Given the description of an element on the screen output the (x, y) to click on. 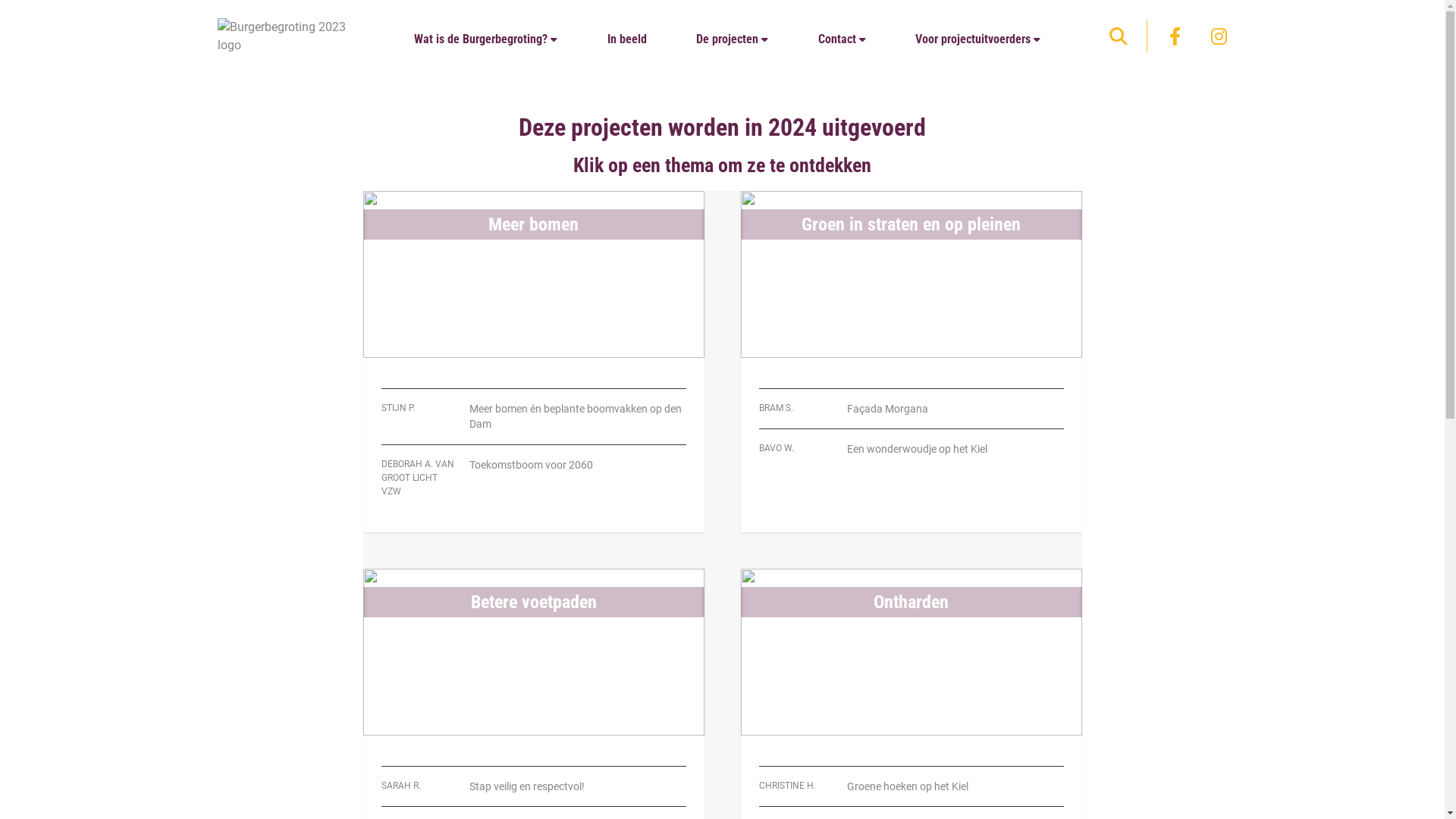
[MISSING STATIC] entries_show_cta_can_share_insta Element type: text (1218, 36)
Klik om de zoekbalk te selecteren Element type: text (1118, 36)
Betere voetpaden
10
1101
0
0 Element type: text (532, 651)
In beeld Element type: text (636, 39)
BAVO W.
Een wonderwoudje op het Kiel Element type: text (910, 442)
home-page Element type: text (290, 36)
Meer bomen
5
1083
0
0 Element type: text (532, 274)
Ontharden
5
1113
0
0 Element type: text (910, 651)
Deel op facebook Element type: text (1174, 36)
CHRISTINE H.
Groene hoeken op het Kiel Element type: text (910, 779)
Groen in straten en op pleinen
7
1016
0
0 Element type: text (910, 274)
DEBORAH A. VAN GROOT LICHT VZW
Toekomstboom voor 2060 Element type: text (532, 471)
SARAH R.
Stap veilig en respectvol! Element type: text (532, 779)
